Given the description of an element on the screen output the (x, y) to click on. 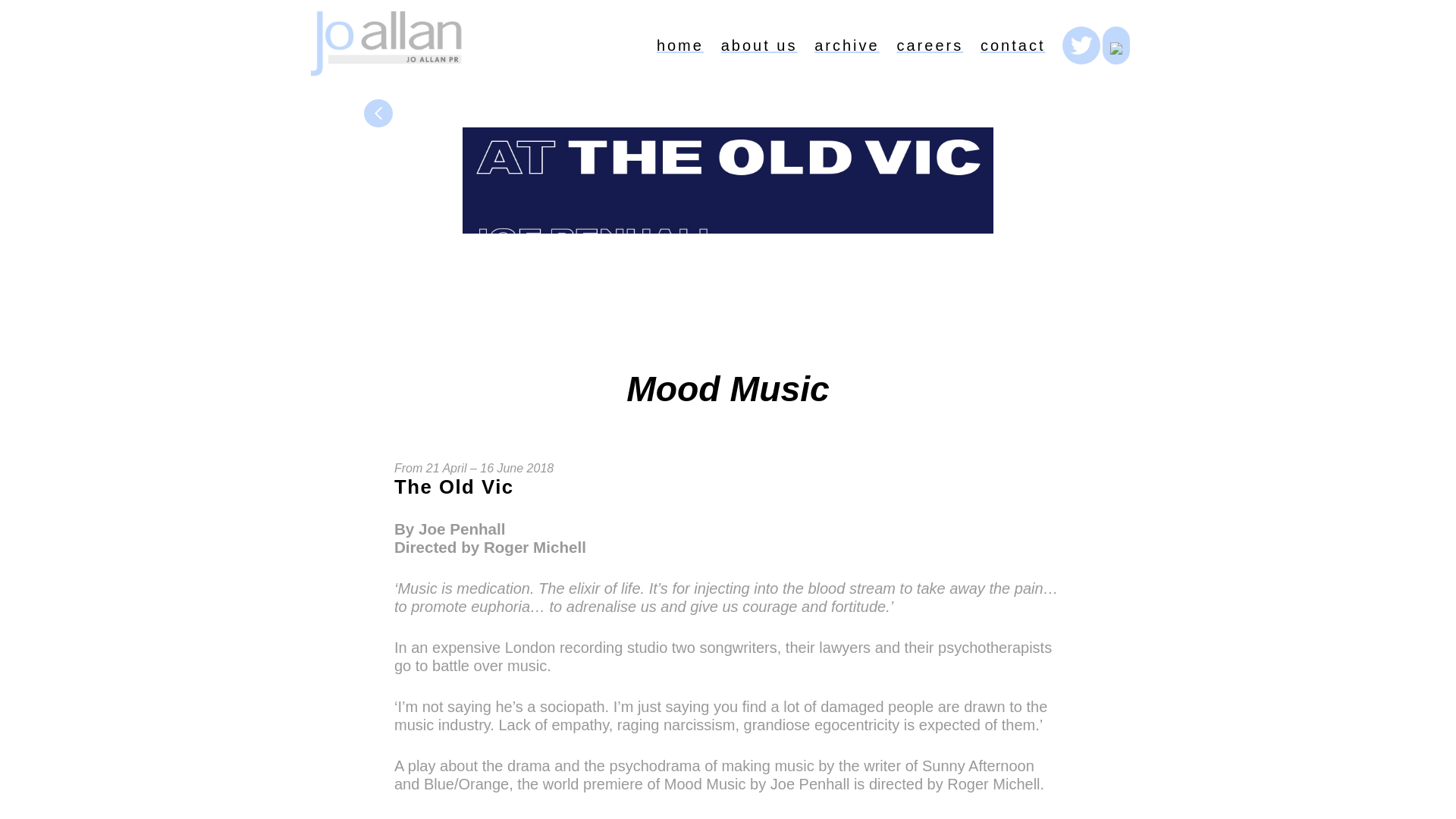
archive (846, 45)
contact (1012, 45)
home (679, 45)
careers (929, 45)
about us (758, 45)
